Given the description of an element on the screen output the (x, y) to click on. 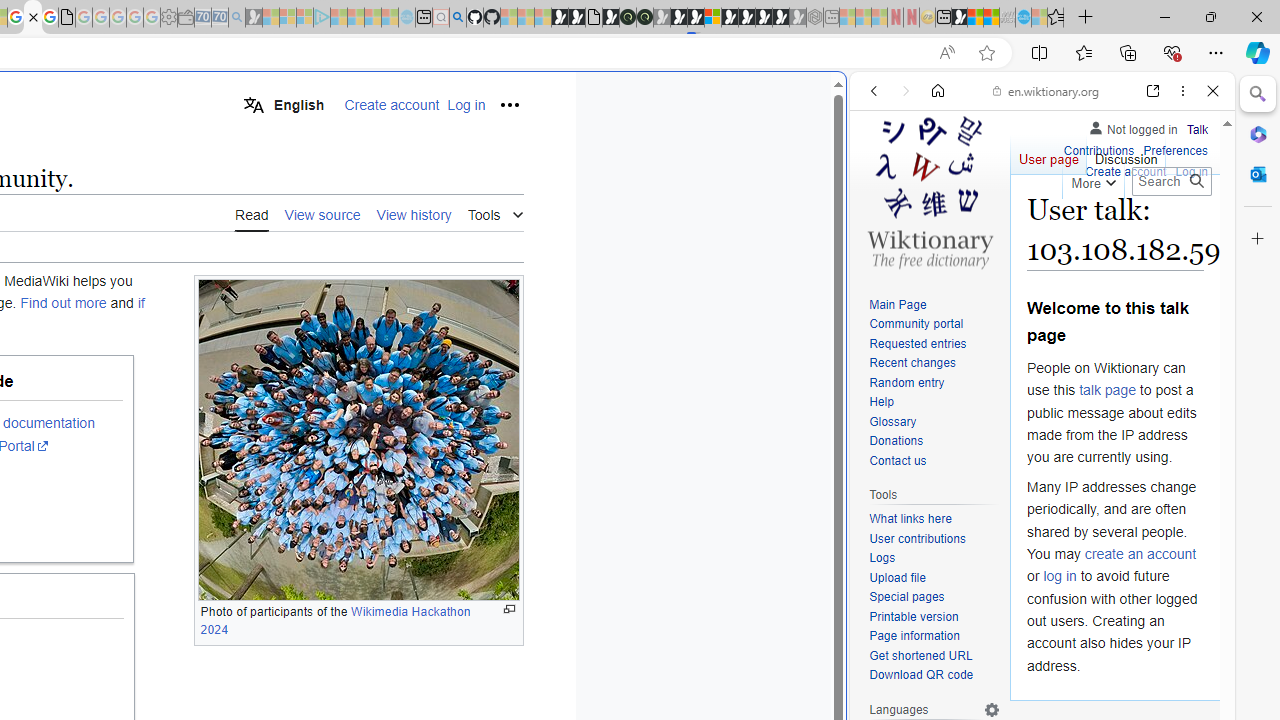
Play Zoo Boom in your browser | Games from Microsoft Start (576, 17)
Logs (882, 557)
Upload file (934, 578)
Go (1196, 181)
Talk (1197, 126)
Random entry (934, 382)
Create account (1125, 172)
Printable version (934, 616)
github - Search - Sleeping (457, 17)
Community portal (916, 323)
